Given the description of an element on the screen output the (x, y) to click on. 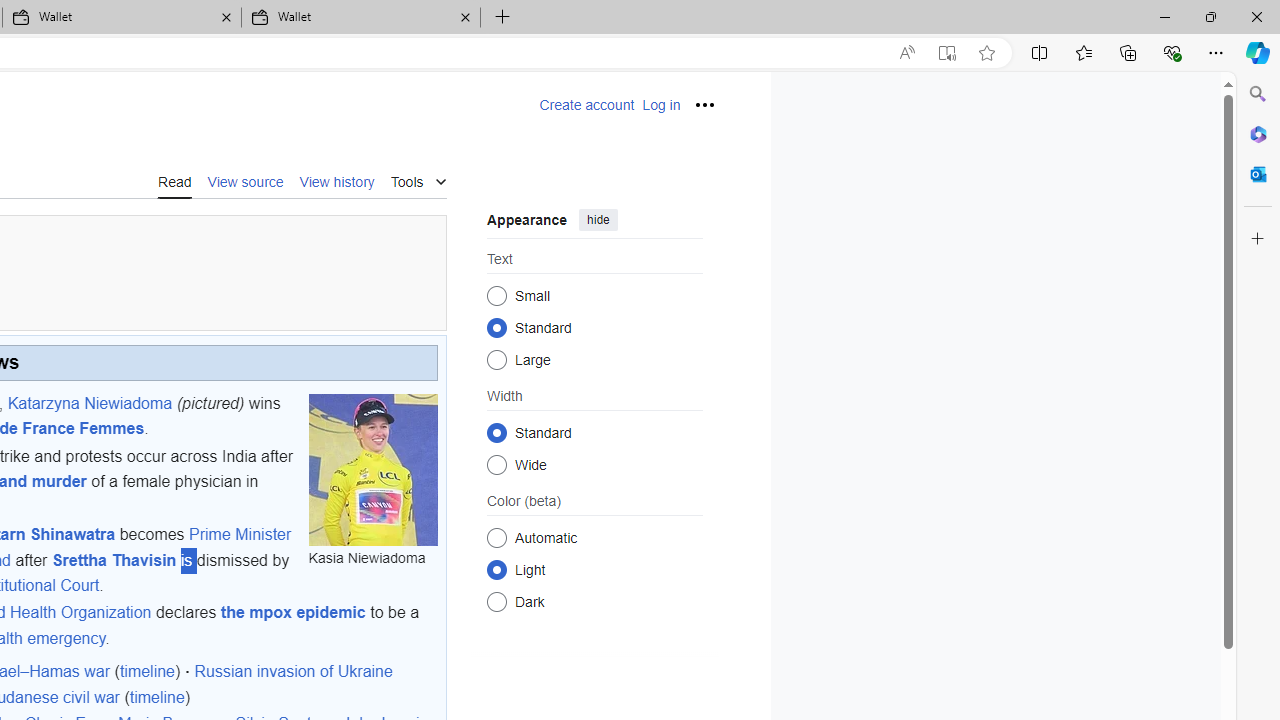
Standard (496, 431)
Automatic (496, 537)
Large (496, 359)
Read (174, 181)
Wide (496, 464)
Personal tools (703, 104)
Kasia Niewiadoma (372, 469)
Russian invasion of Ukraine (293, 672)
Customize (1258, 239)
